Given the description of an element on the screen output the (x, y) to click on. 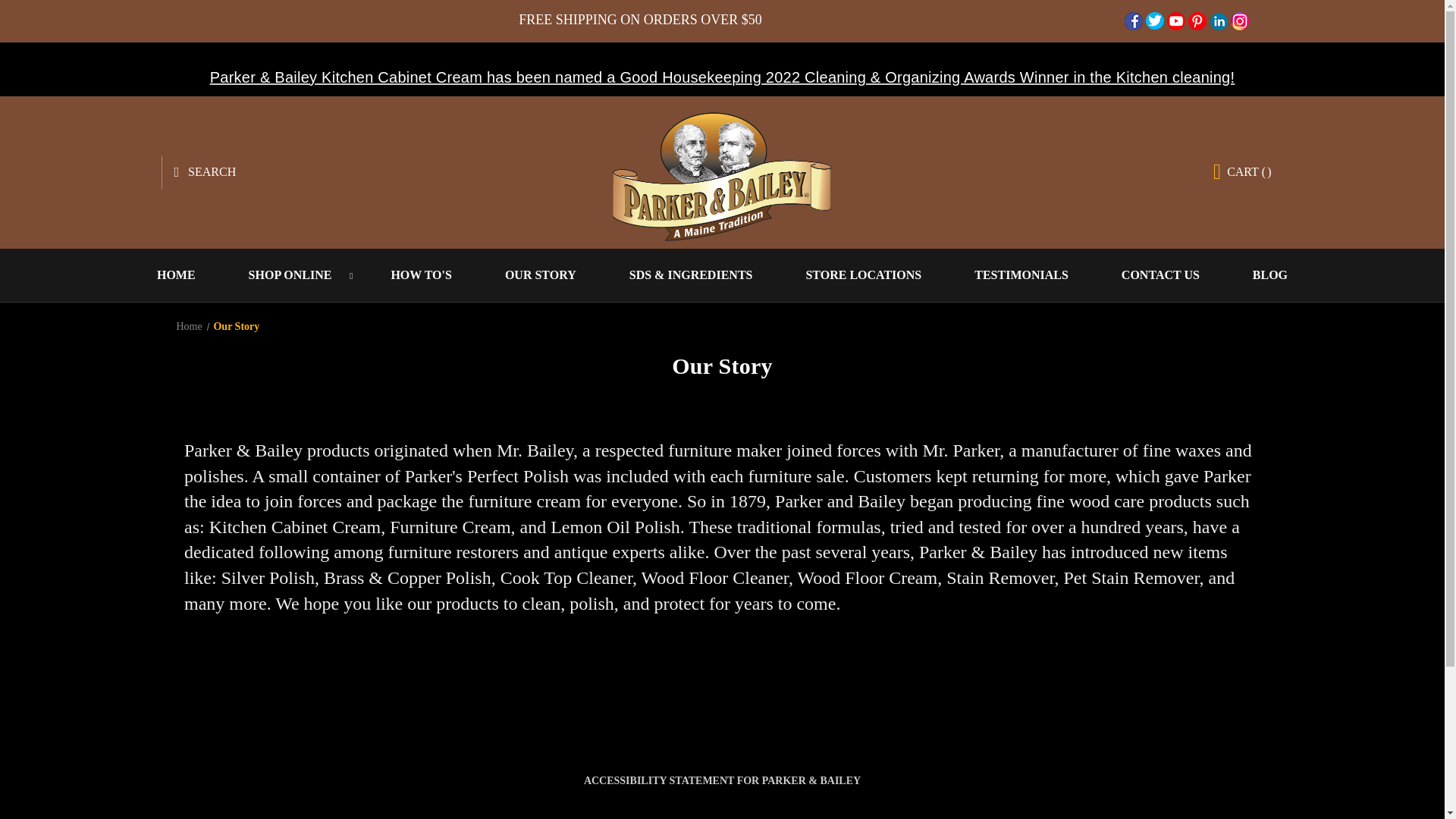
BLOG (1269, 275)
CONTACT US (1159, 275)
HOME (176, 275)
SEARCH (204, 172)
SHOP ONLINE (293, 275)
Parker Bailey new store (721, 171)
HOW TO'S (420, 275)
CART (1242, 171)
TESTIMONIALS (1020, 275)
OUR STORY (540, 275)
STORE LOCATIONS (862, 275)
